Given the description of an element on the screen output the (x, y) to click on. 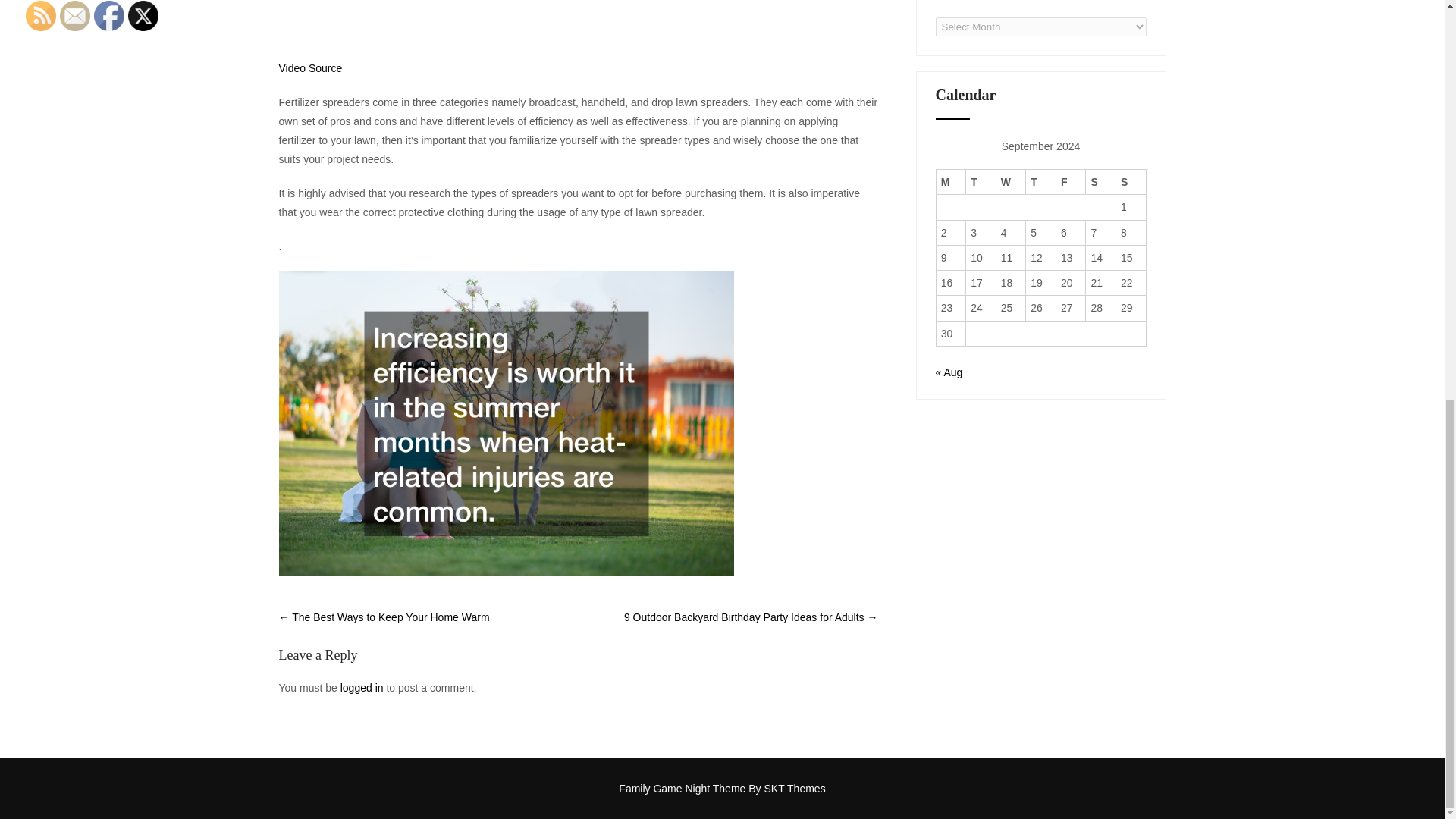
Friday (1071, 181)
Twitter (143, 15)
Follow by Email (74, 15)
Tuesday (980, 181)
Video Source (310, 68)
Monday (951, 181)
Saturday (1101, 181)
Thursday (1041, 181)
Wednesday (1010, 181)
RSS (41, 15)
